Given the description of an element on the screen output the (x, y) to click on. 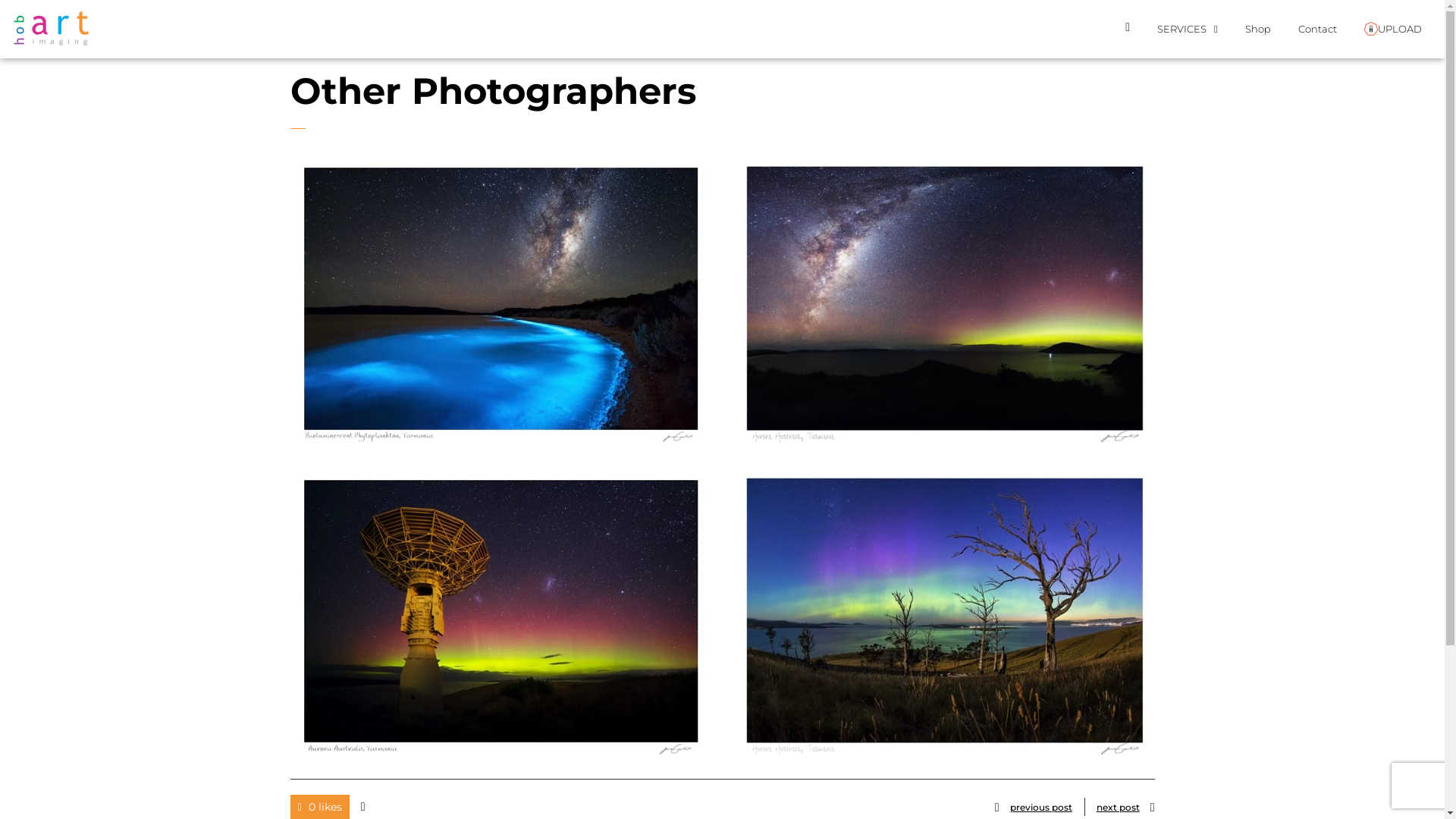
previous post Element type: text (1029, 806)
Shop Element type: text (1257, 28)
Home Element type: text (1127, 28)
SERVICES Element type: text (1187, 28)
UPLOAD Element type: text (1392, 28)
Contact Element type: text (1317, 28)
next post Element type: text (1119, 806)
